Given the description of an element on the screen output the (x, y) to click on. 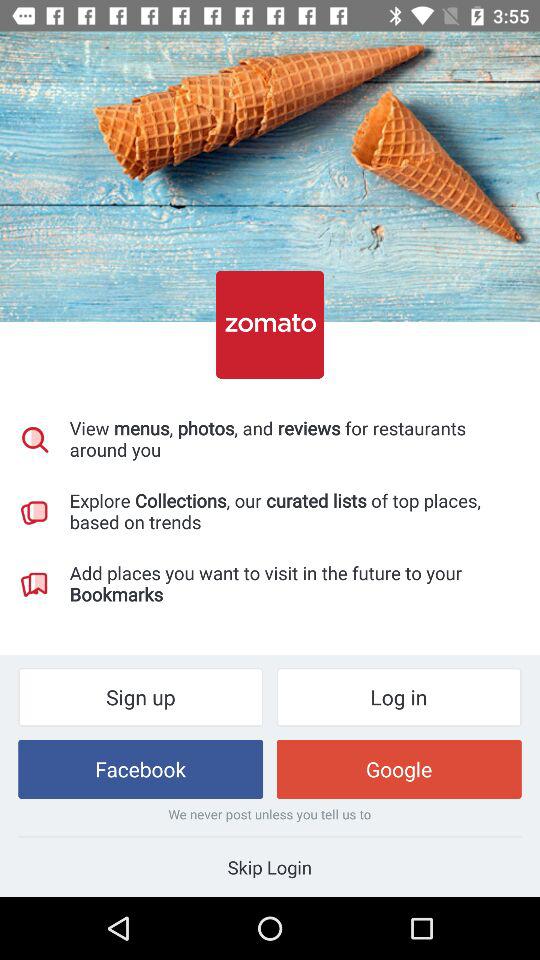
select icon above we never post icon (140, 768)
